Given the description of an element on the screen output the (x, y) to click on. 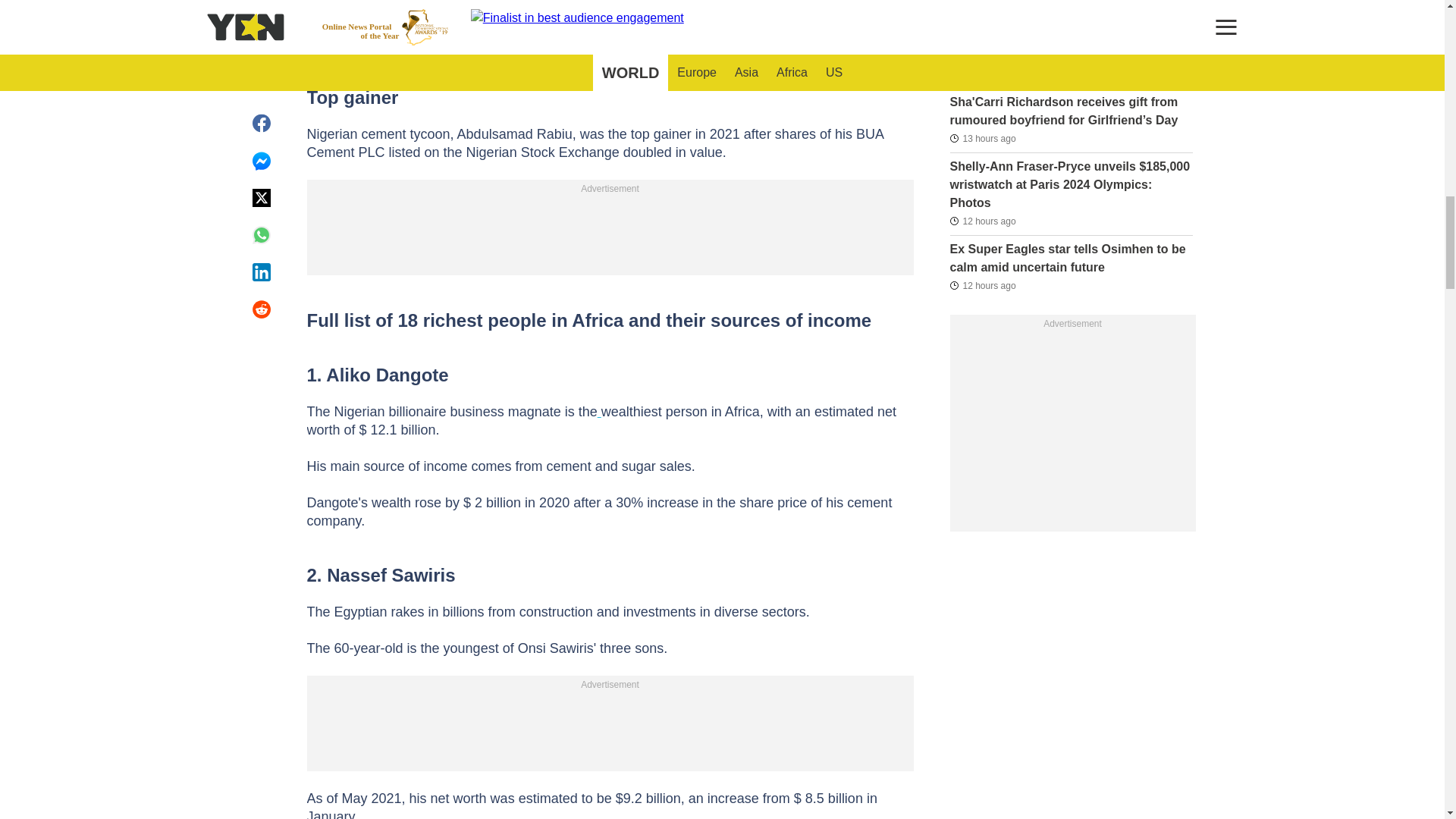
2024-08-03T10:09:47Z (981, 9)
2024-08-03T14:03:55Z (981, 137)
2024-08-03T03:28:03Z (981, 74)
2024-08-03T14:51:37Z (981, 221)
